Given the description of an element on the screen output the (x, y) to click on. 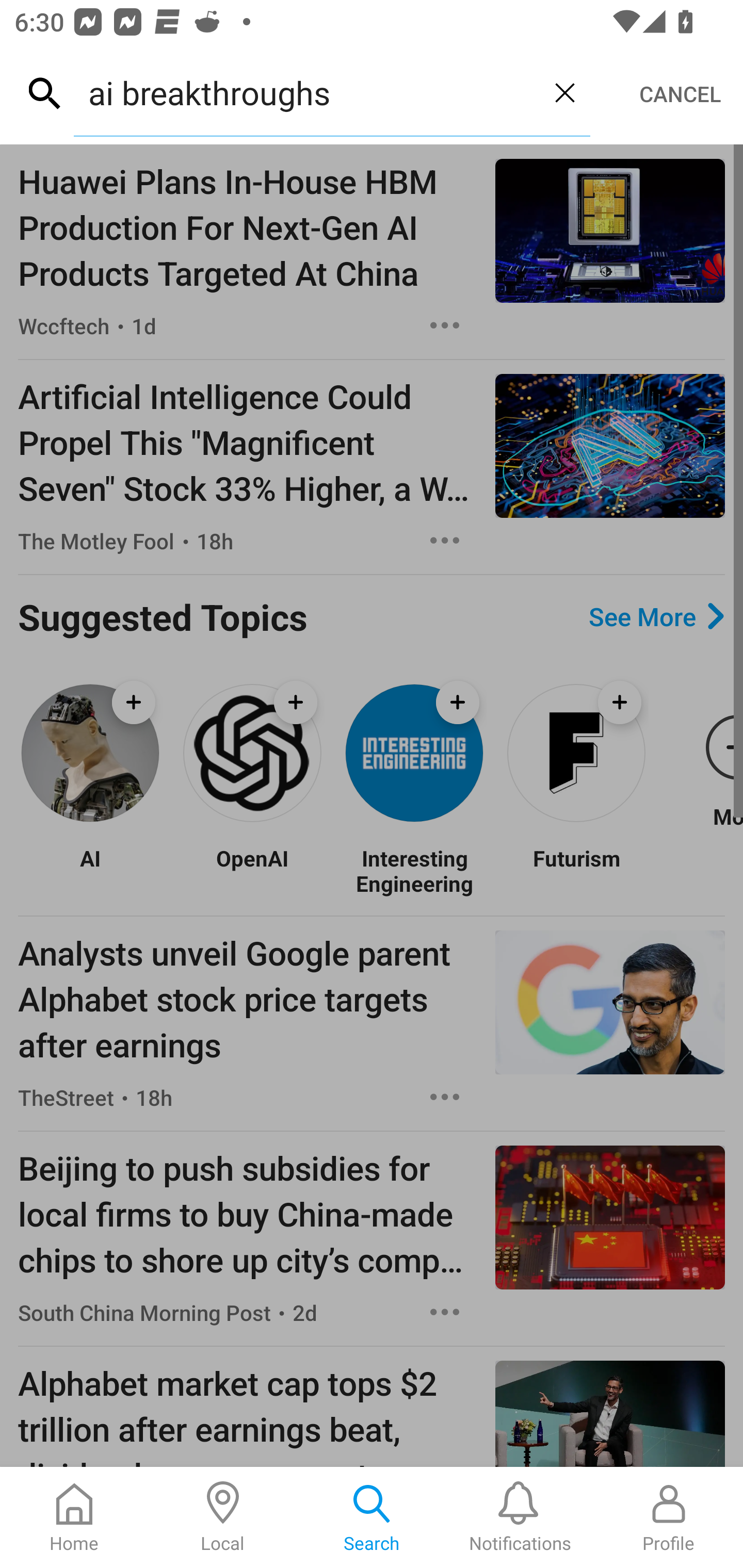
Clear query (564, 92)
CANCEL (680, 93)
ai breakthroughs (306, 92)
Options (444, 325)
Options (444, 540)
See More (656, 615)
More (704, 753)
AI (89, 870)
OpenAI (251, 870)
Interesting Engineering (413, 870)
Futurism (575, 870)
Options (444, 1096)
Options (444, 1312)
Home (74, 1517)
Local (222, 1517)
Notifications (519, 1517)
Profile (668, 1517)
